Given the description of an element on the screen output the (x, y) to click on. 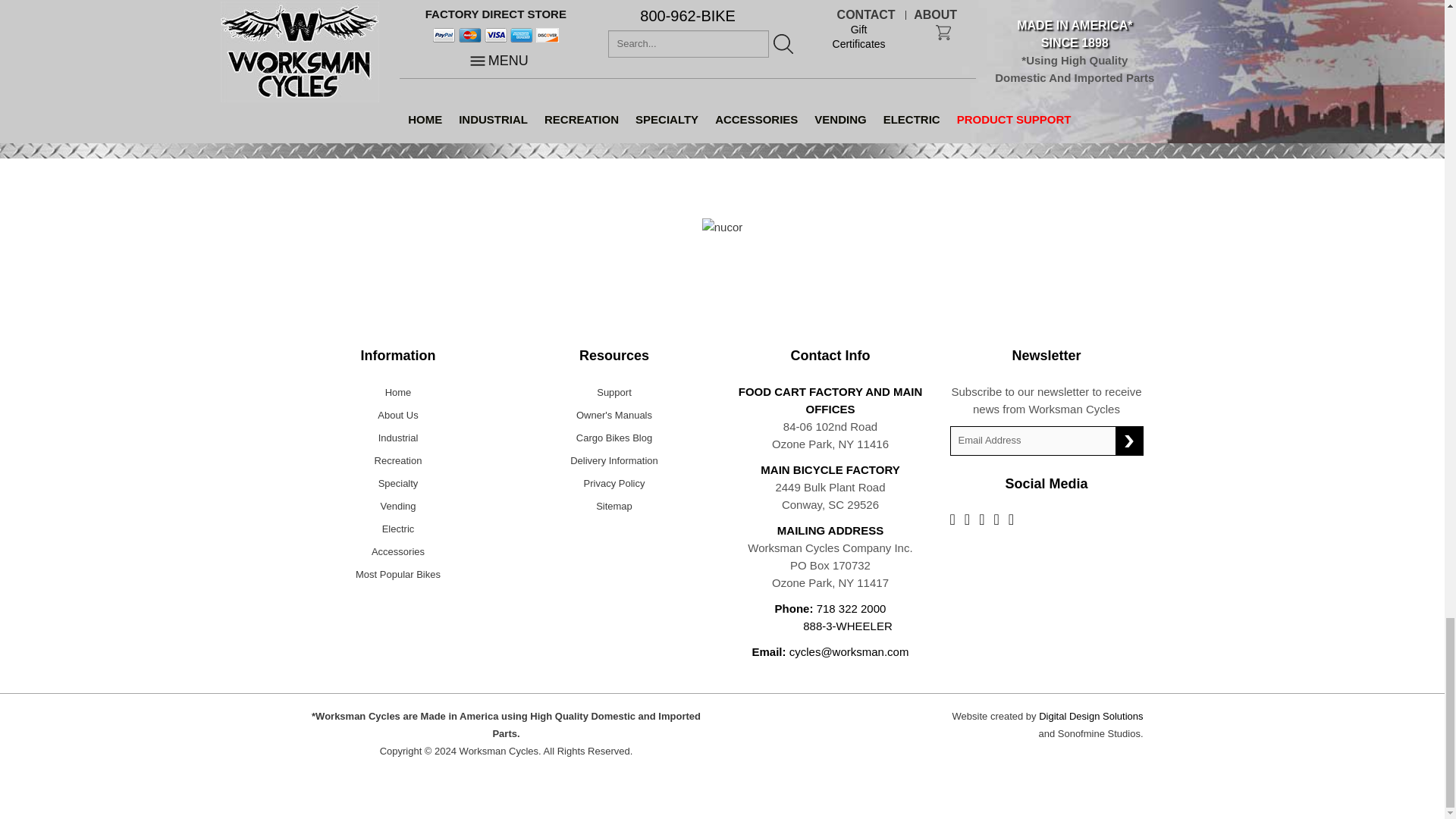
submit (1128, 440)
Email Address (1033, 440)
